Given the description of an element on the screen output the (x, y) to click on. 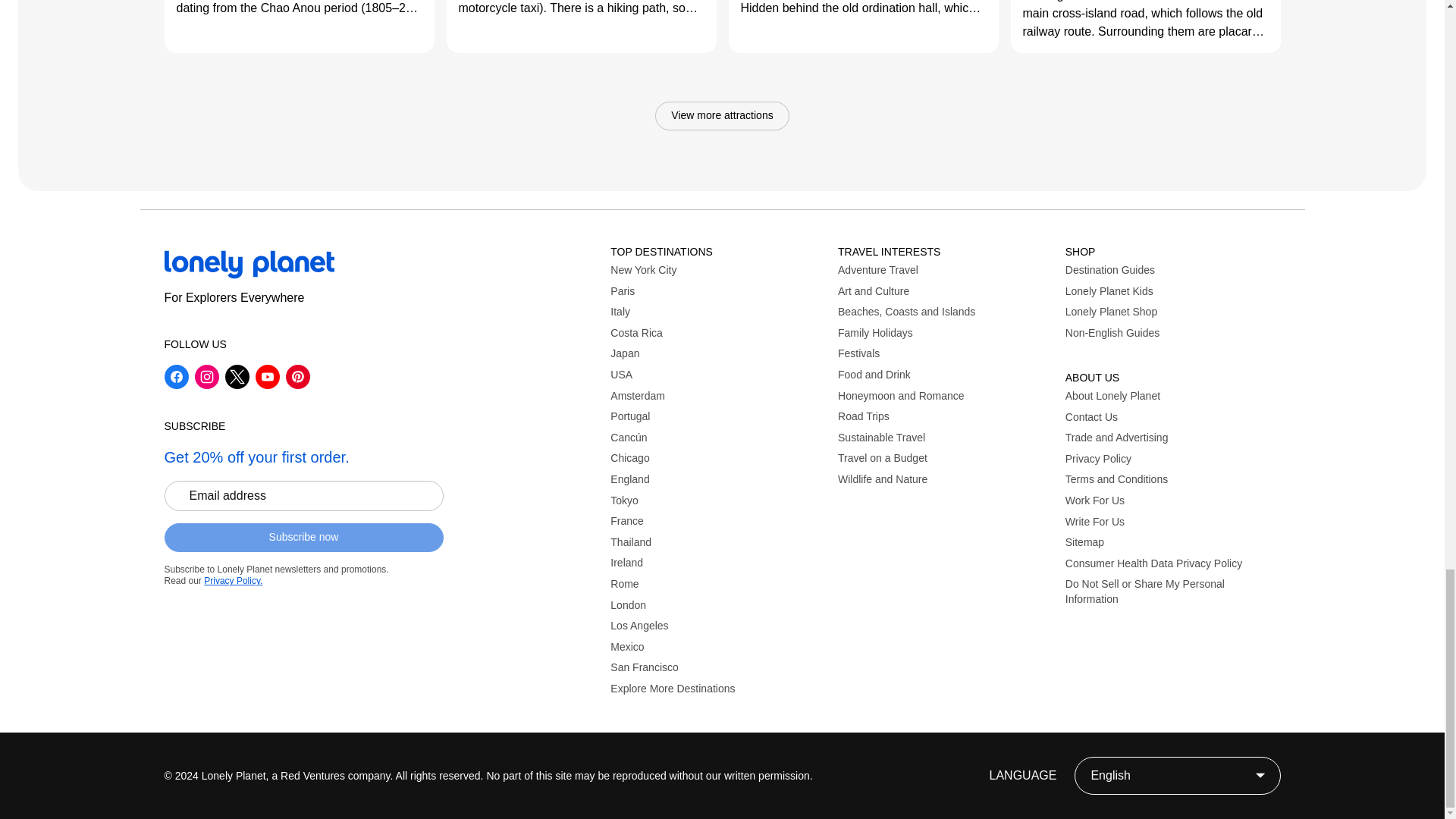
View more attractions (722, 115)
